Given the description of an element on the screen output the (x, y) to click on. 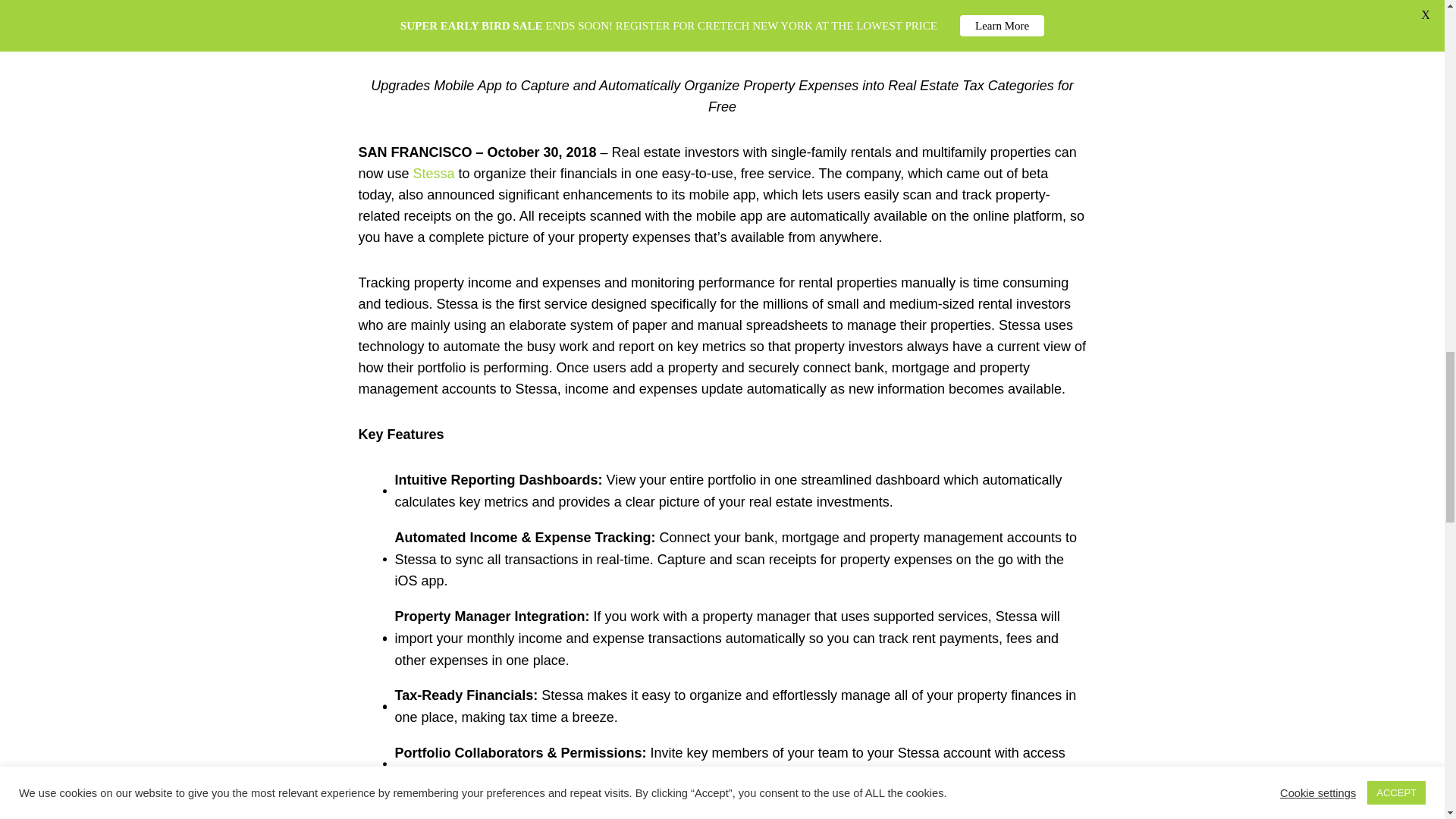
Stessa (433, 173)
